Given the description of an element on the screen output the (x, y) to click on. 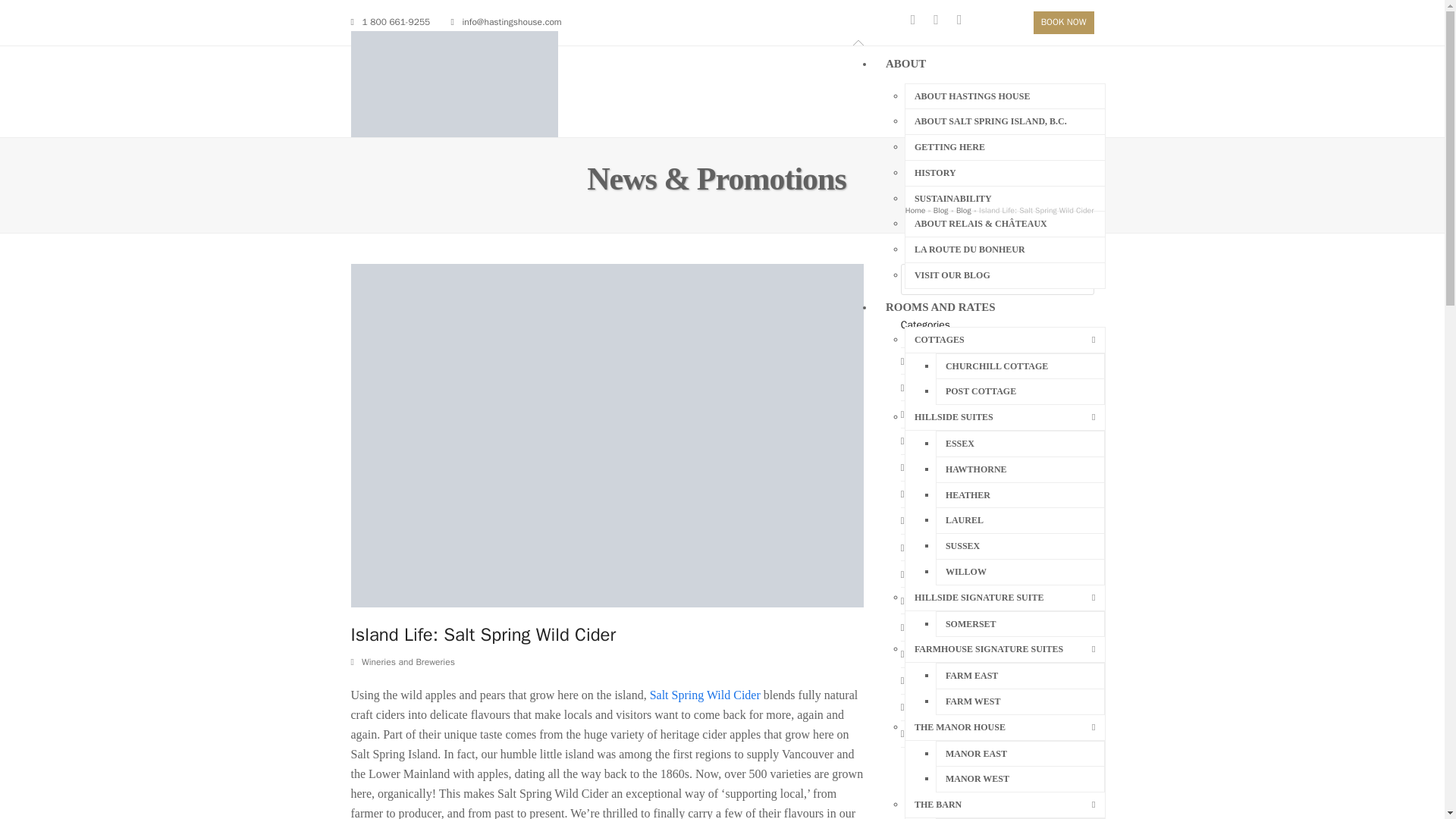
SUSTAINABILITY (1005, 199)
Twitter (967, 25)
Instagram (944, 25)
ESSEX (1019, 444)
FARMHOUSE SIGNATURE SUITES (1005, 649)
LAUREL (1019, 520)
FARM WEST (1019, 701)
MANOR WEST (1019, 778)
HEATHER (1019, 495)
SUSSEX (1019, 546)
